Given the description of an element on the screen output the (x, y) to click on. 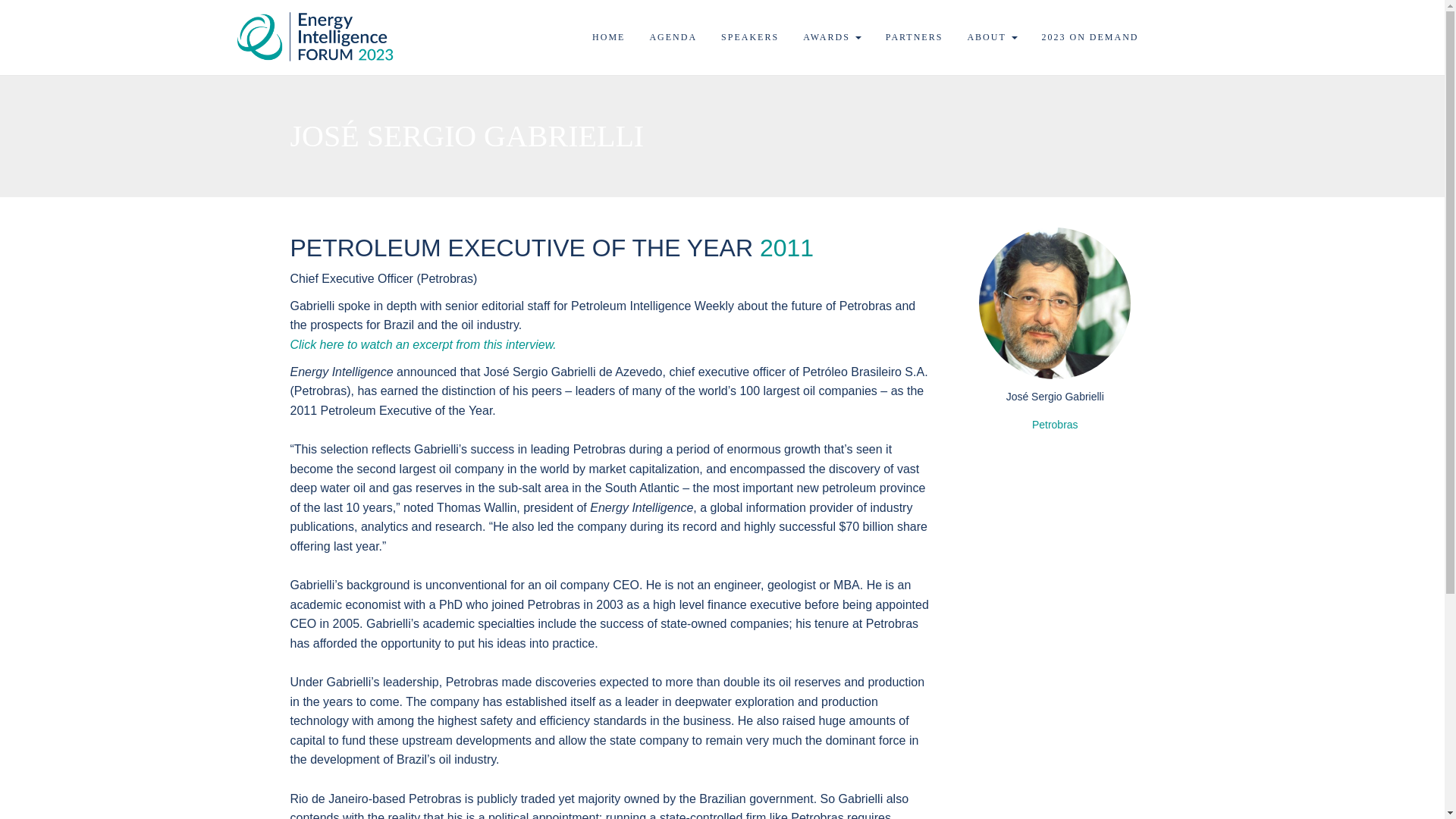
HOME (608, 37)
SPEAKERS (750, 37)
PARTNERS (914, 37)
2023 ON DEMAND (1089, 37)
Click here to watch an excerpt from this interview. (422, 344)
ABOUT (991, 37)
AGENDA (672, 37)
AWARDS (831, 37)
